Given the description of an element on the screen output the (x, y) to click on. 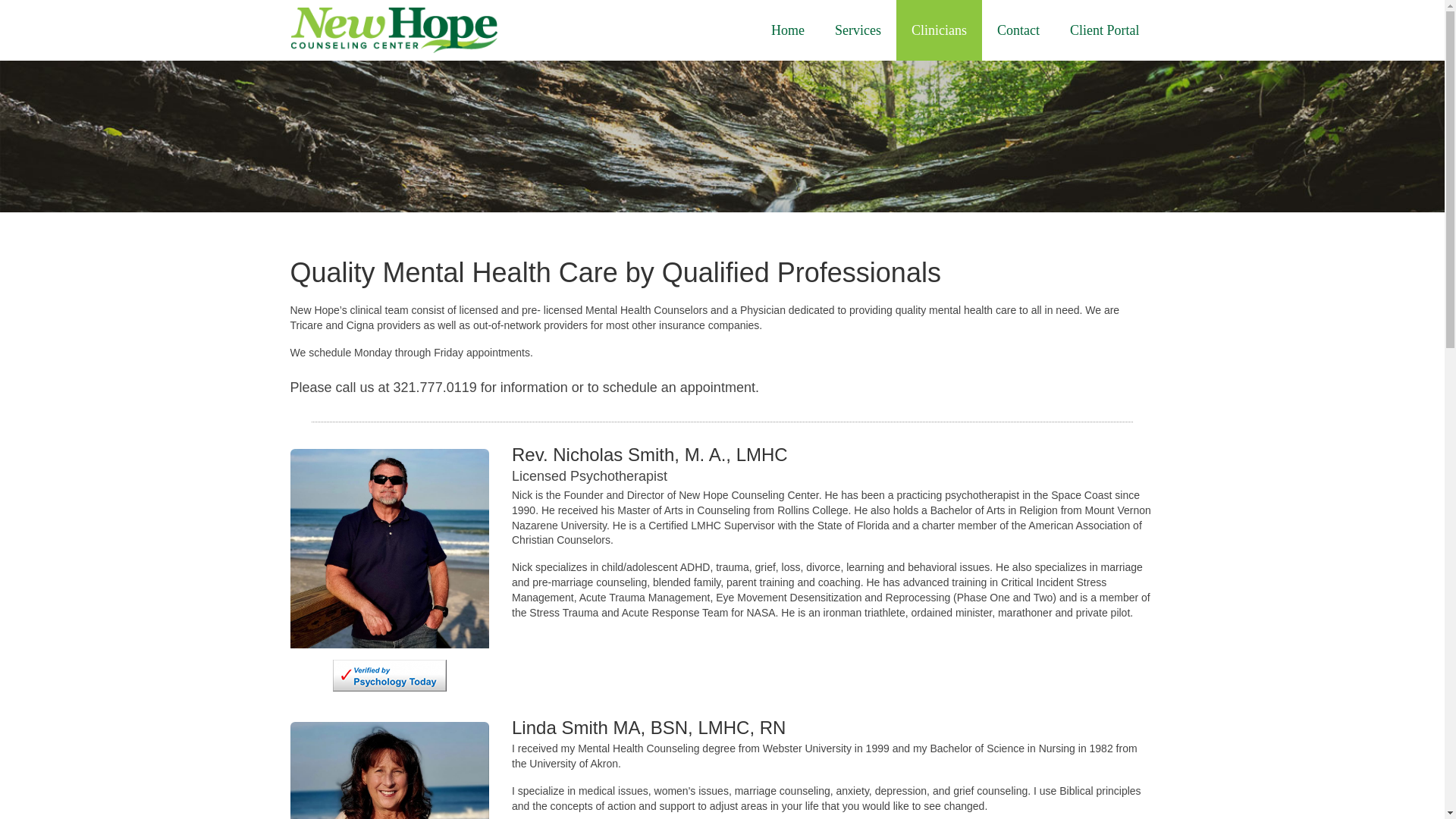
Services (857, 30)
Contact (1017, 30)
Client Portal (1104, 30)
Clinicians (938, 30)
Home (787, 30)
New Hope Counseling Center (425, 30)
